Given the description of an element on the screen output the (x, y) to click on. 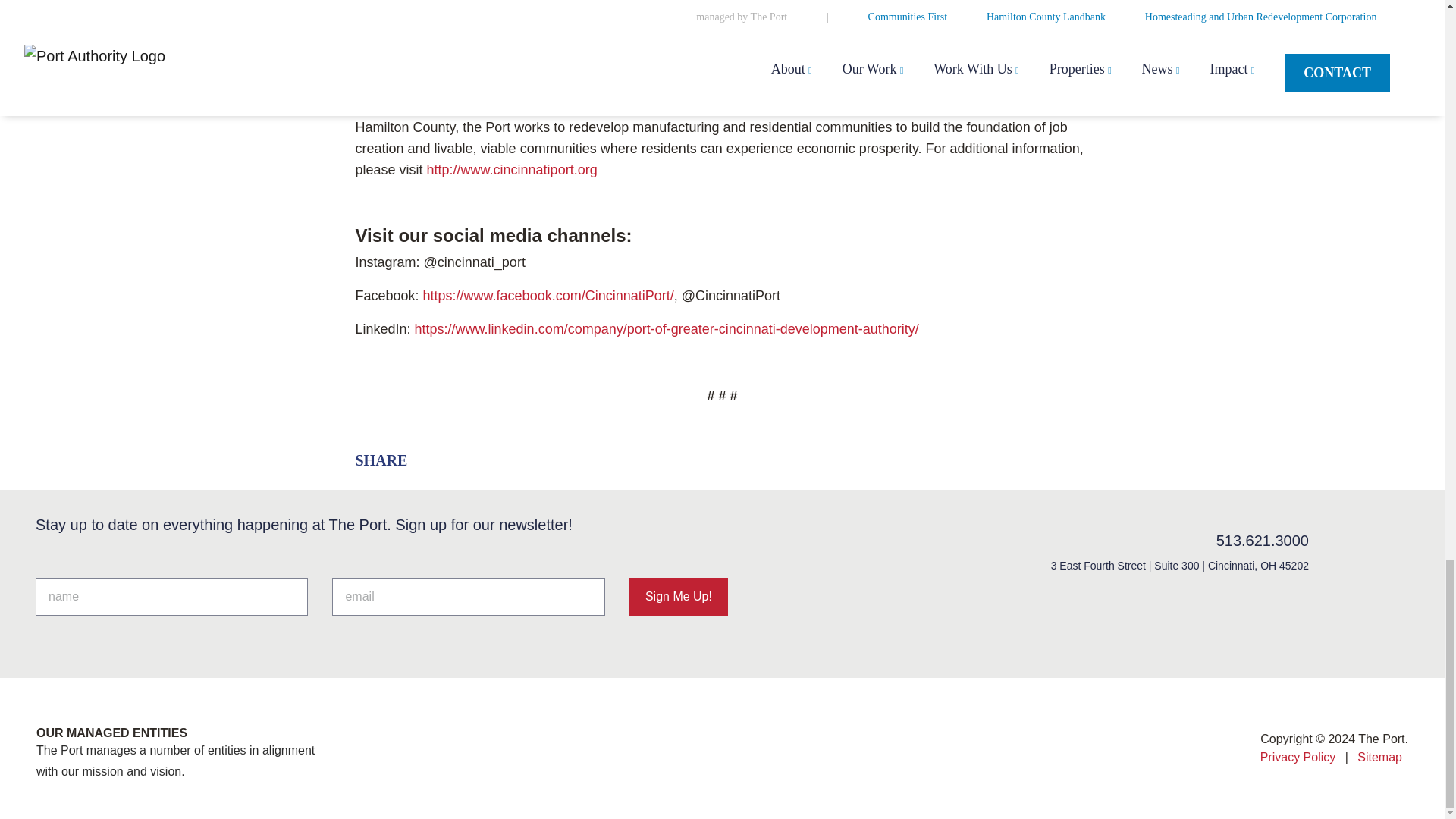
Sign Me Up! (678, 596)
